Given the description of an element on the screen output the (x, y) to click on. 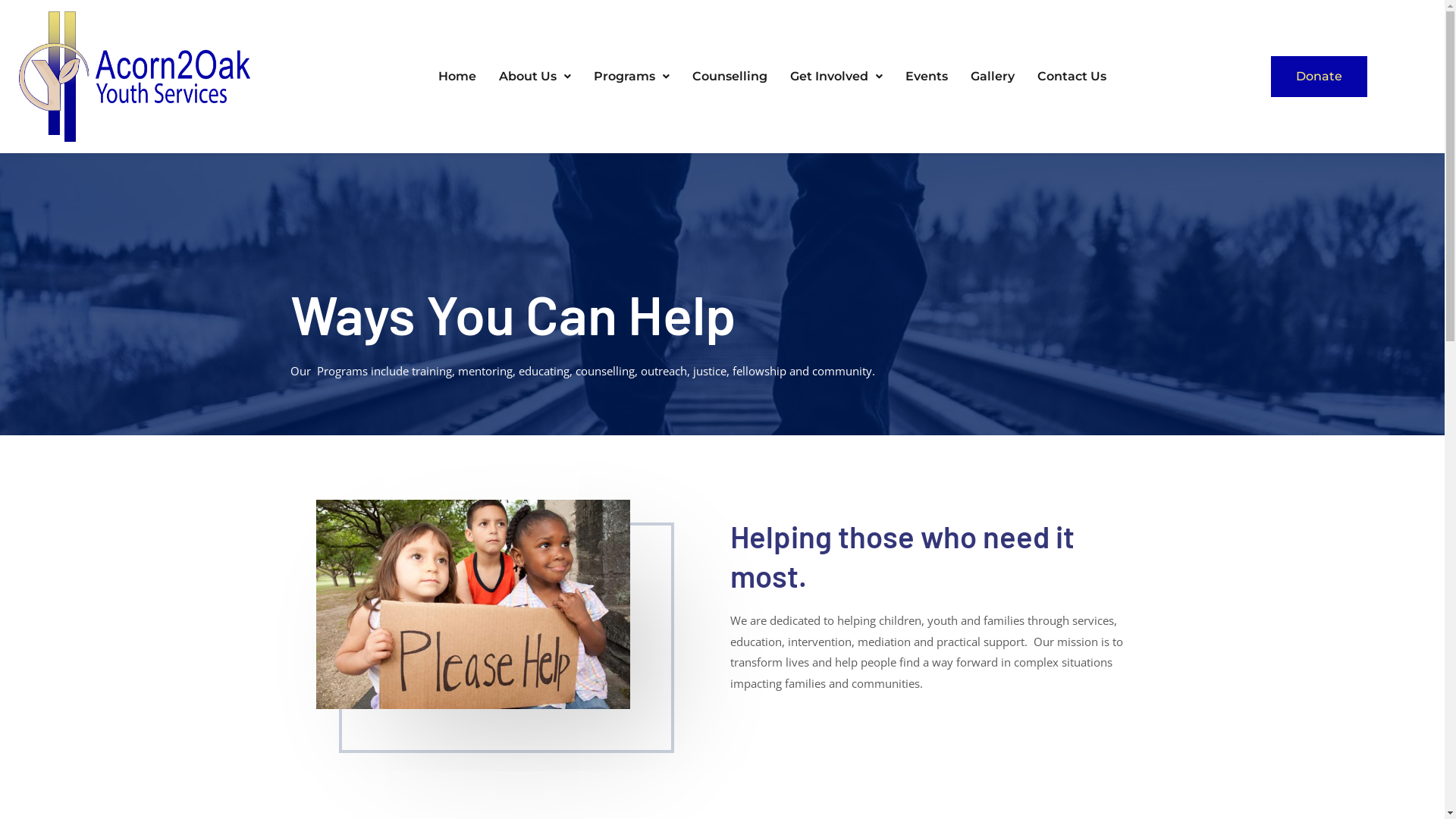
Programs Element type: text (631, 76)
Contact Us Element type: text (1071, 76)
About Us Element type: text (534, 76)
Get Involved Element type: text (836, 76)
Gallery Element type: text (992, 76)
Events Element type: text (926, 76)
Donate Element type: text (1318, 76)
Counselling Element type: text (729, 76)
Home Element type: text (456, 76)
